Given the description of an element on the screen output the (x, y) to click on. 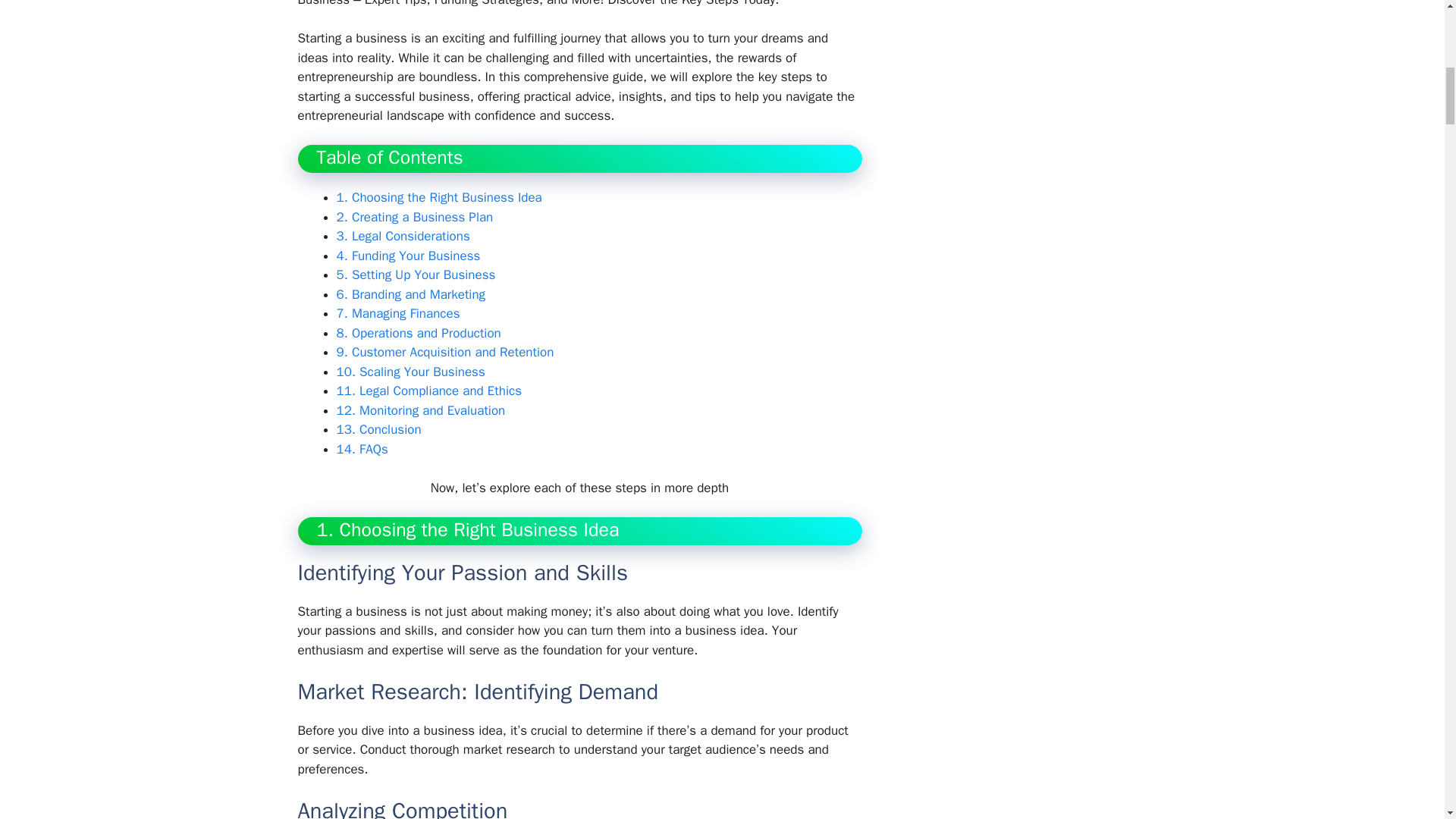
11. Legal Compliance and Ethics (428, 390)
6. Branding and Marketing (411, 294)
7. Managing Finances (398, 313)
12. Monitoring and Evaluation (420, 410)
2. Creating a Business Plan (414, 217)
1. Choosing the Right Business Idea (438, 197)
5. Setting Up Your Business (416, 274)
3. Legal Considerations (403, 236)
13. Conclusion (379, 429)
9. Customer Acquisition and Retention (445, 351)
Scroll back to top (1406, 720)
10. Scaling Your Business (410, 371)
4. Funding Your Business (408, 255)
8. Operations and Production (418, 333)
